Given the description of an element on the screen output the (x, y) to click on. 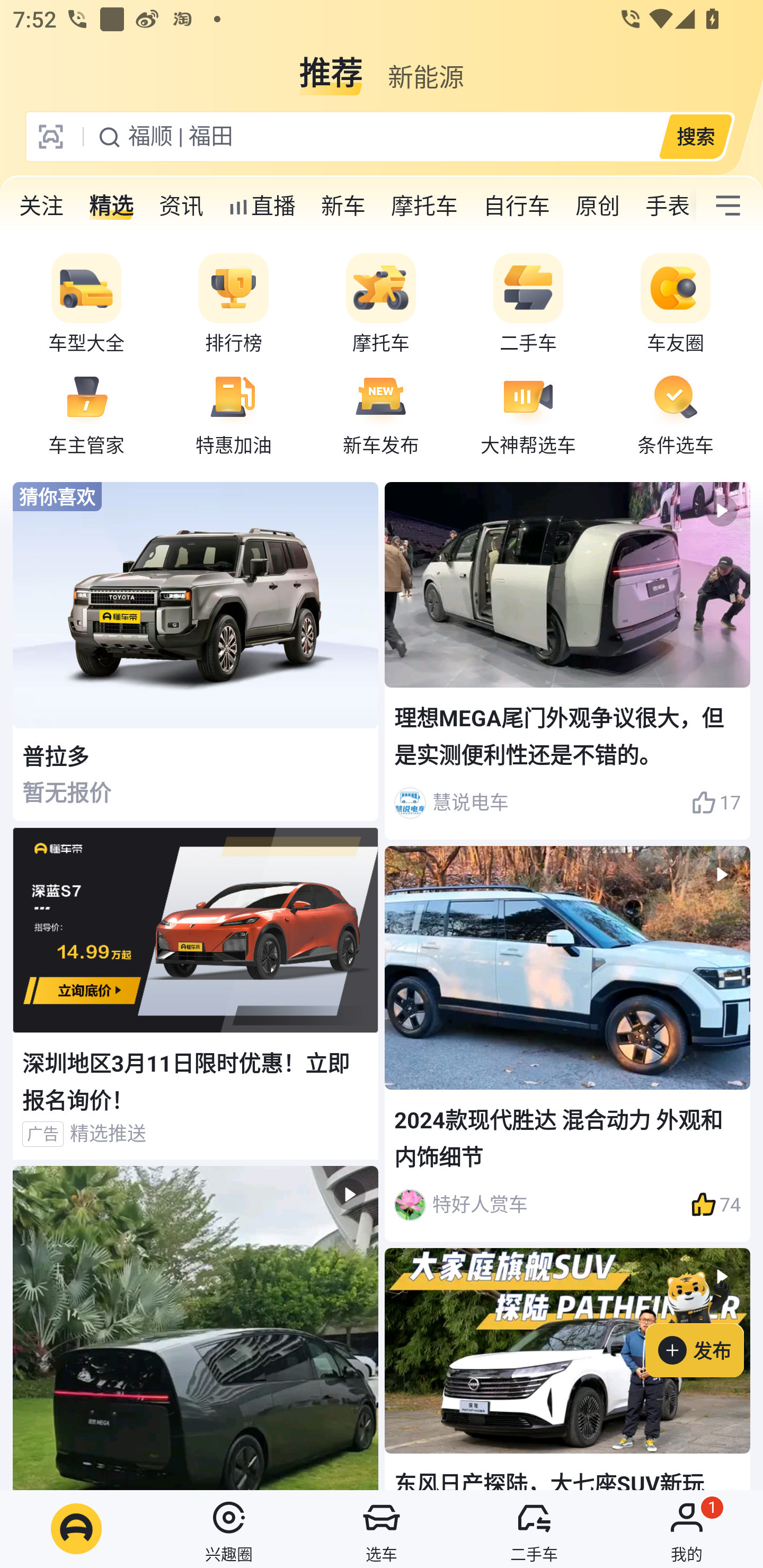
推荐 (330, 65)
新能源 (425, 65)
搜索 (695, 136)
关注 (41, 205)
精选 (111, 205)
资讯 (180, 205)
直播 (261, 205)
新车 (343, 205)
摩托车 (424, 205)
自行车 (516, 205)
原创 (597, 205)
手表 (663, 205)
 (727, 205)
车型大全 (86, 303)
排行榜 (233, 303)
摩托车 (380, 303)
二手车 (528, 303)
车友圈 (675, 303)
车主管家 (86, 412)
特惠加油 (233, 412)
新车发布 (380, 412)
大神帮选车 (528, 412)
条件选车 (675, 412)
猜你喜欢 普拉多 暂无报价 (195, 651)
 理想MEGA尾门外观争议很大，但是实测便利性还是不错的。 慧说电车 17 (567, 659)
17 (715, 802)
深圳地区3月11日限时优惠！立即报名询价！ 广告 精选推送 (195, 993)
 2024款现代胜达 混合动力 外观和内饰细节 特好人赏车 74 (567, 1043)
 (195, 1327)
74 (715, 1204)
 东风日产探陆，大七座SUV新玩家！ (567, 1368)
发布 (704, 1320)
 兴趣圈 (228, 1528)
 选车 (381, 1528)
 二手车 (533, 1528)
 我的 (686, 1528)
